Given the description of an element on the screen output the (x, y) to click on. 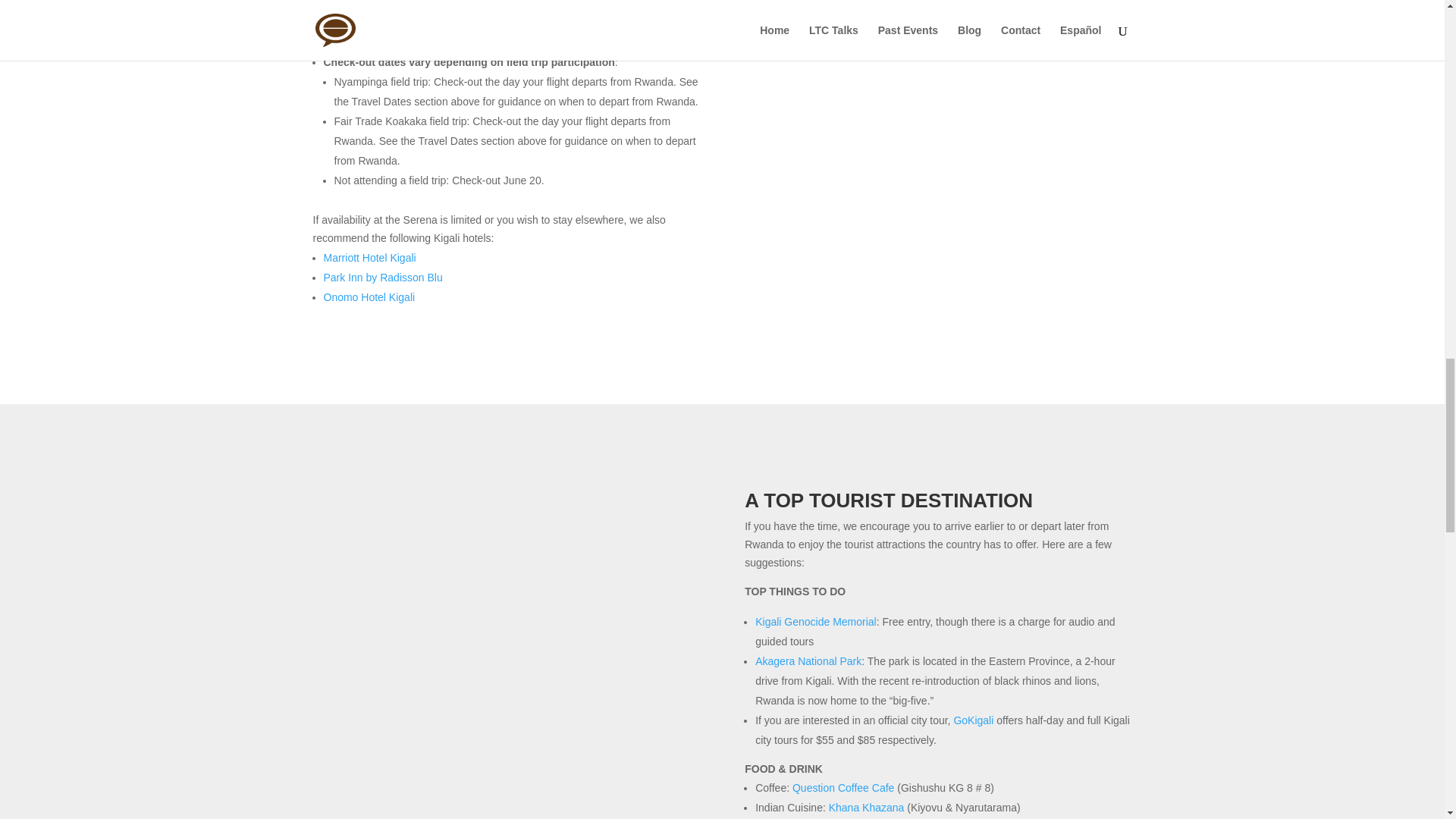
Khana Khazana (866, 807)
Kigali Genocide Memorial (815, 621)
GoKigali (972, 720)
Marriott Hotel Kigali (368, 257)
Park Inn by Radisson Blu (382, 277)
Question Coffee Cafe (842, 787)
Onomo Hotel Kigali (368, 297)
Akagera National Park (808, 661)
